Given the description of an element on the screen output the (x, y) to click on. 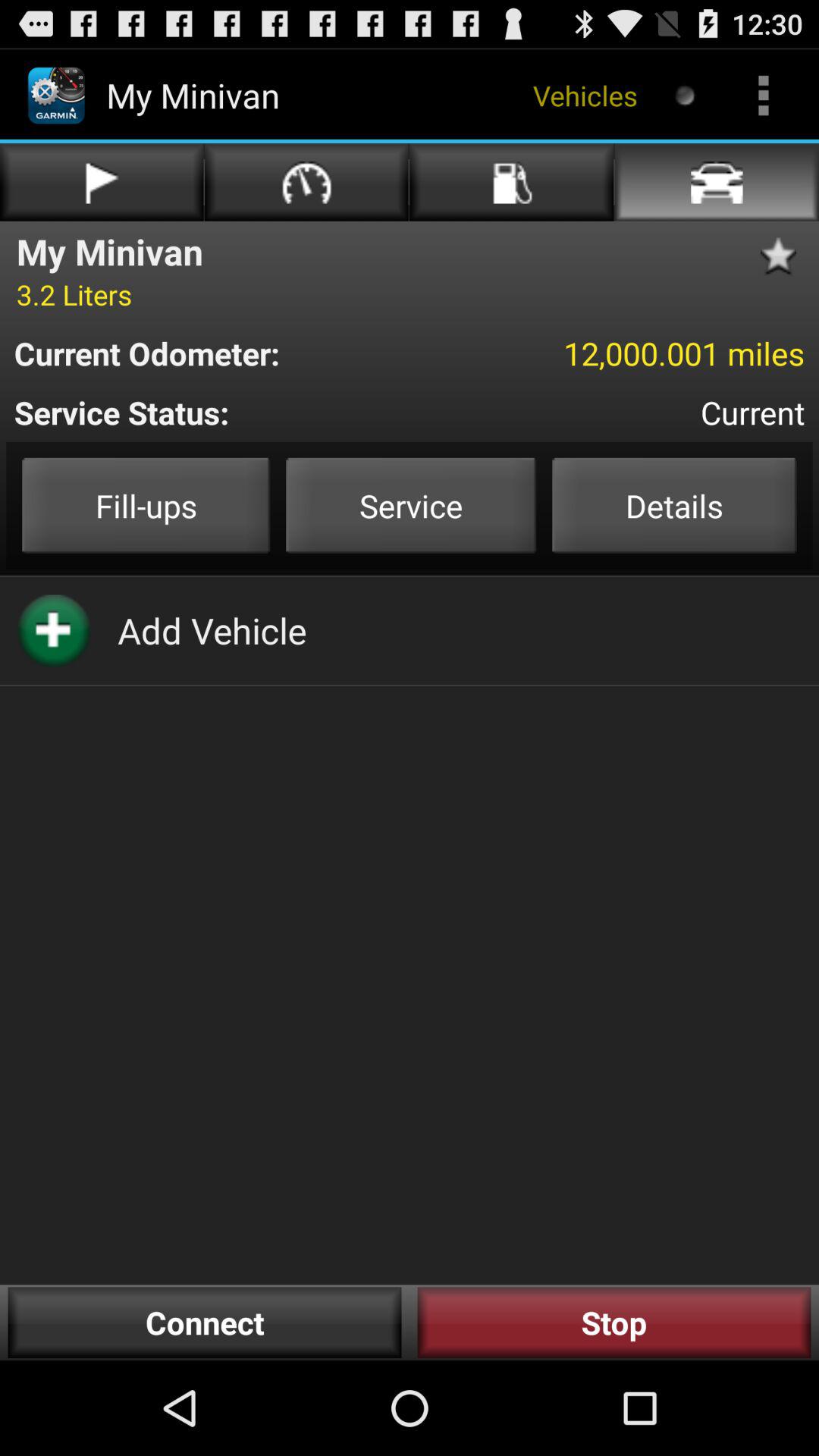
scroll to fill-ups button (146, 505)
